Given the description of an element on the screen output the (x, y) to click on. 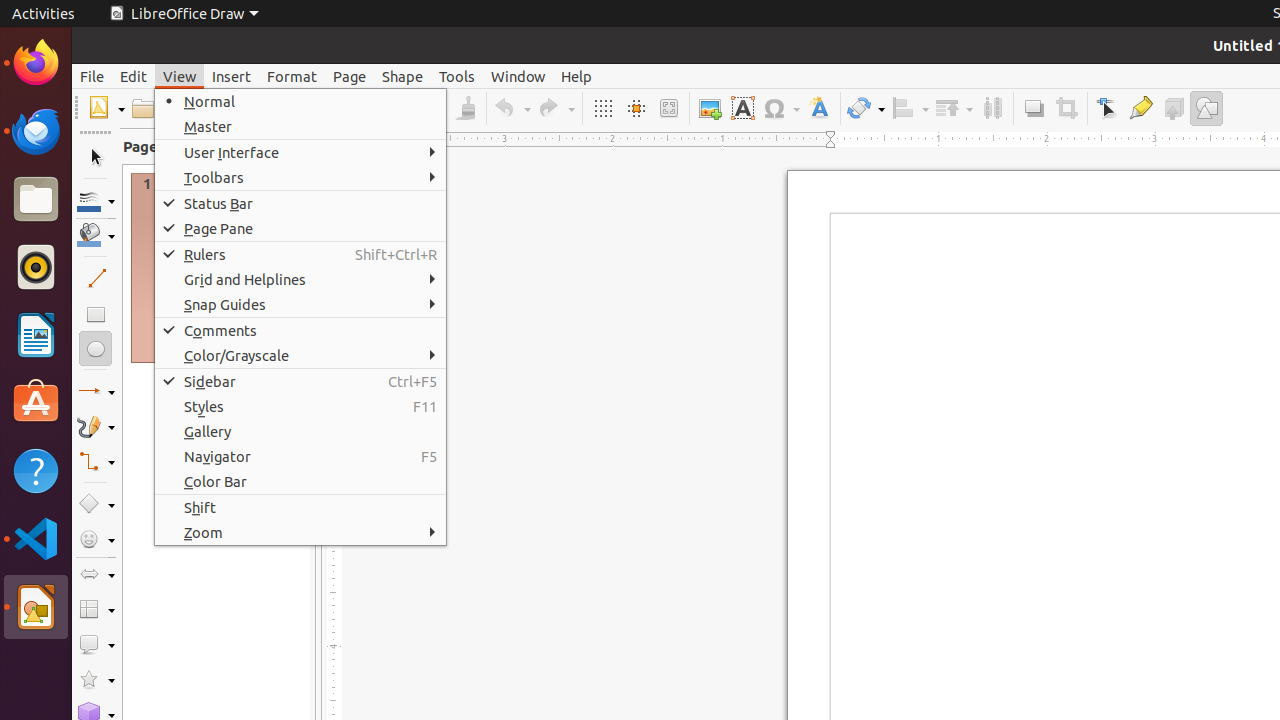
Gallery Element type: menu-item (300, 431)
Snap Guides Element type: menu (300, 304)
Select Element type: push-button (95, 157)
Transformations Element type: push-button (866, 108)
Page Pane Element type: check-menu-item (300, 228)
